Given the description of an element on the screen output the (x, y) to click on. 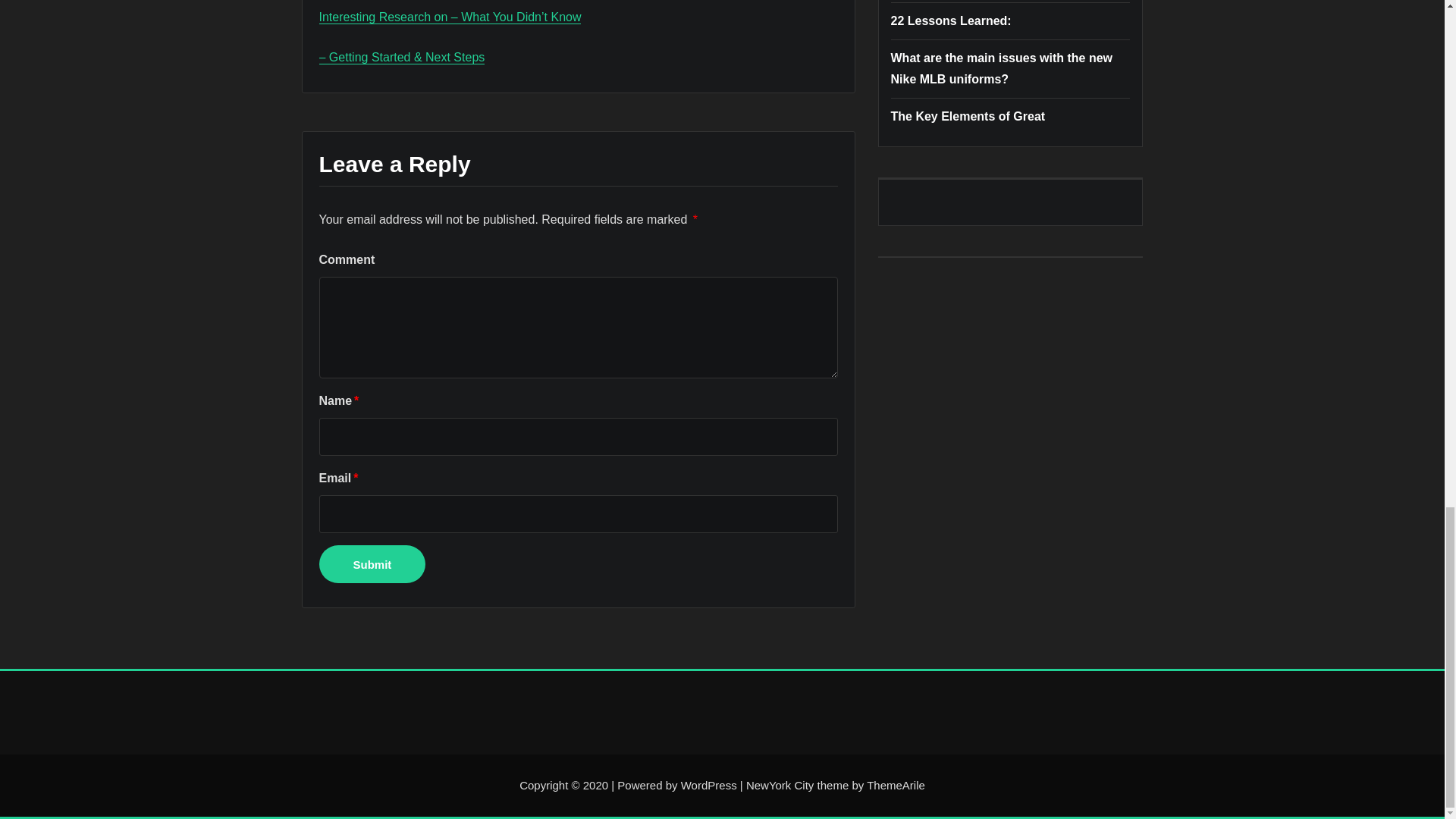
Submit (371, 564)
Submit (371, 564)
